Given the description of an element on the screen output the (x, y) to click on. 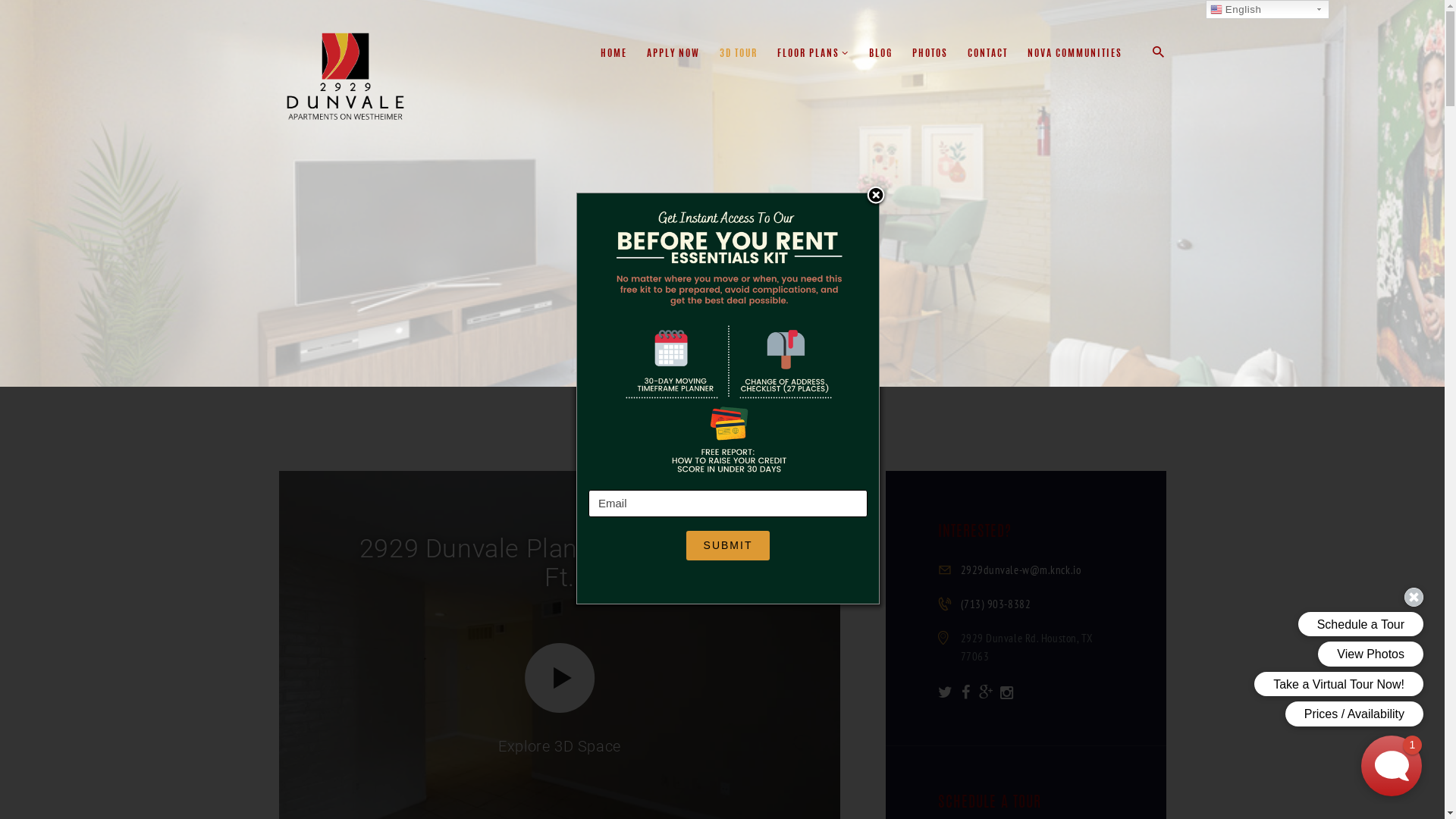
Knock Chat Bot Element type: hover (1391, 765)
Knock Button Options Element type: hover (1292, 657)
3D TOUR Element type: text (738, 54)
BLOG Element type: text (880, 54)
HOME Element type: text (613, 54)
PHOTOS Element type: text (929, 54)
2929dunvale-w@m.knck.io Element type: text (1020, 569)
English Element type: text (1267, 9)
APPLY NOW Element type: text (673, 54)
FLOOR PLANS Element type: text (813, 54)
NOVA COMMUNITIES Element type: text (1074, 54)
CONTACT Element type: text (987, 54)
(713) 903-8382 Element type: text (995, 603)
Submit Element type: text (727, 545)
